Given the description of an element on the screen output the (x, y) to click on. 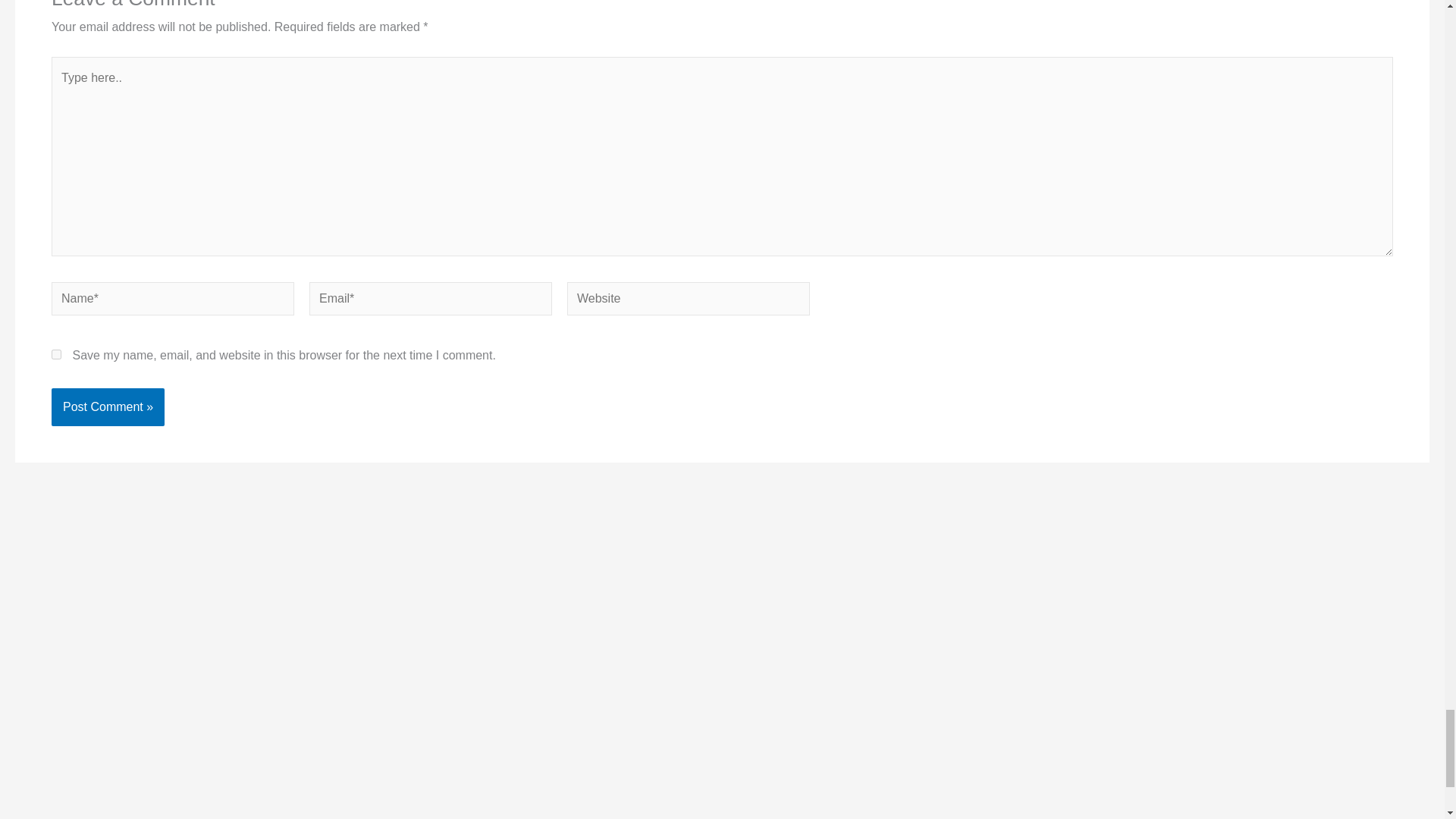
yes (55, 354)
